Given the description of an element on the screen output the (x, y) to click on. 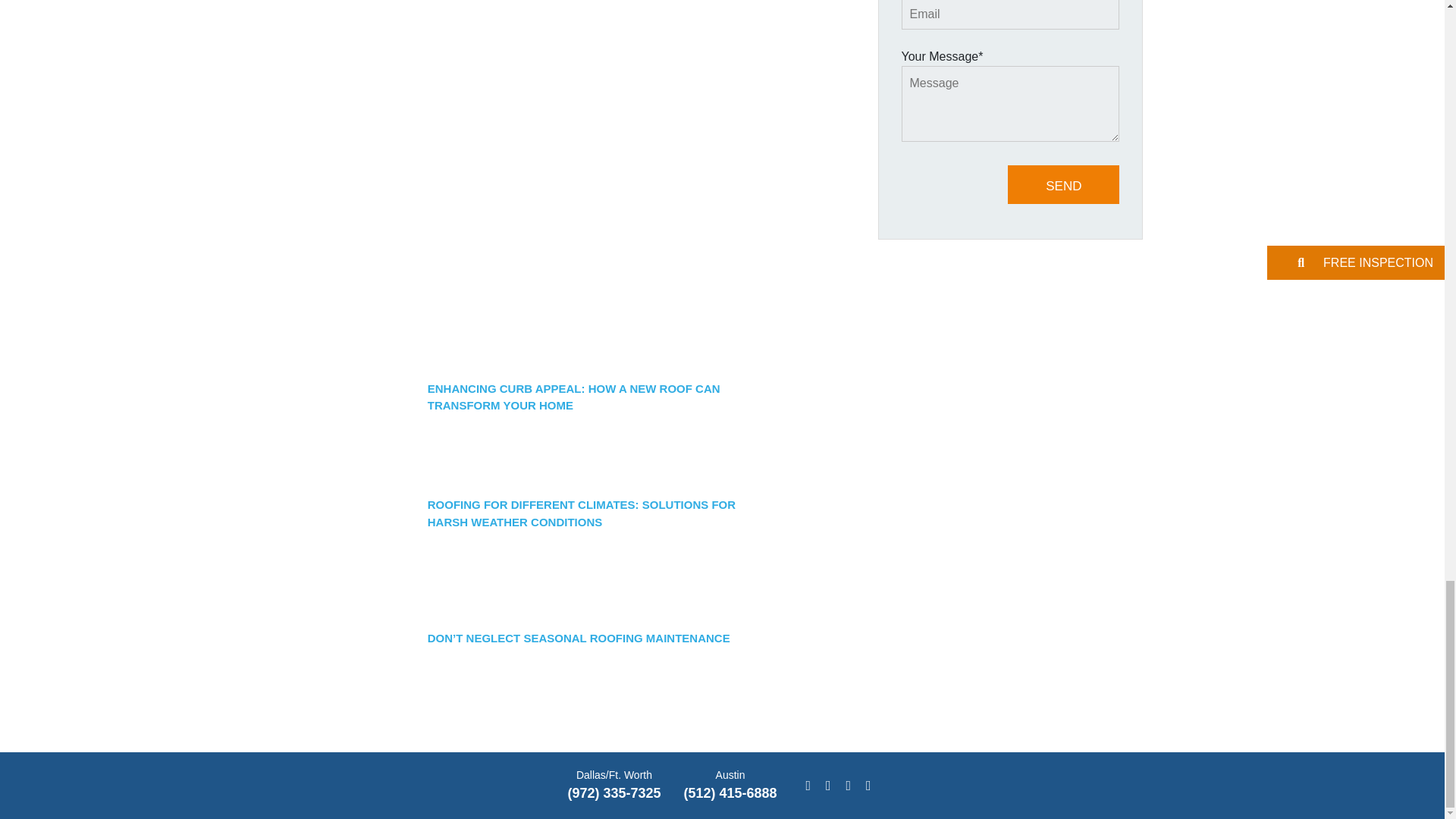
Send (1063, 184)
